Given the description of an element on the screen output the (x, y) to click on. 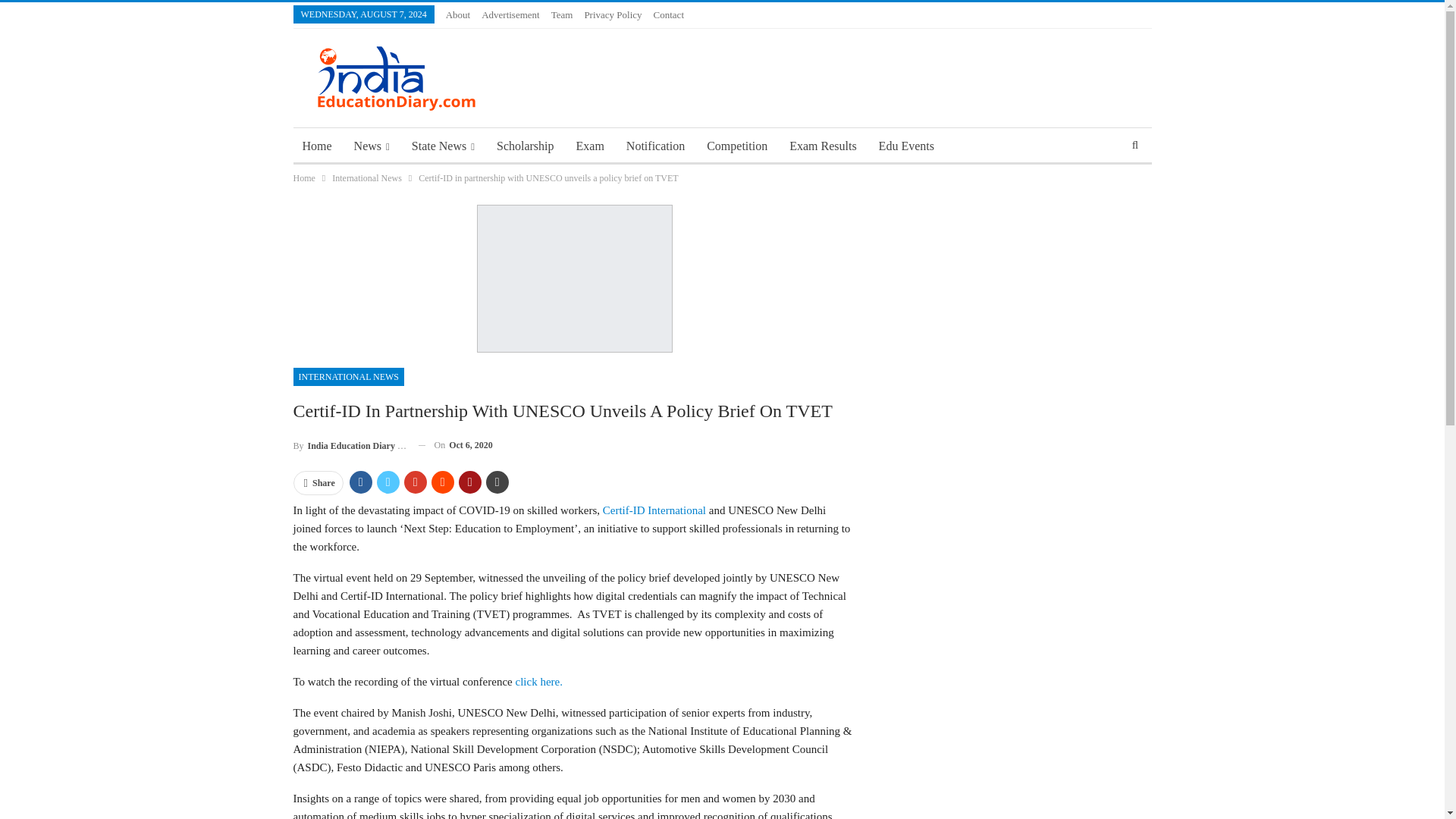
State News (443, 145)
Browse Author Articles (349, 444)
About (457, 14)
Privacy Policy (612, 14)
Home (316, 145)
Team (562, 14)
Contact (668, 14)
News (371, 145)
Advertisement (510, 14)
